Given the description of an element on the screen output the (x, y) to click on. 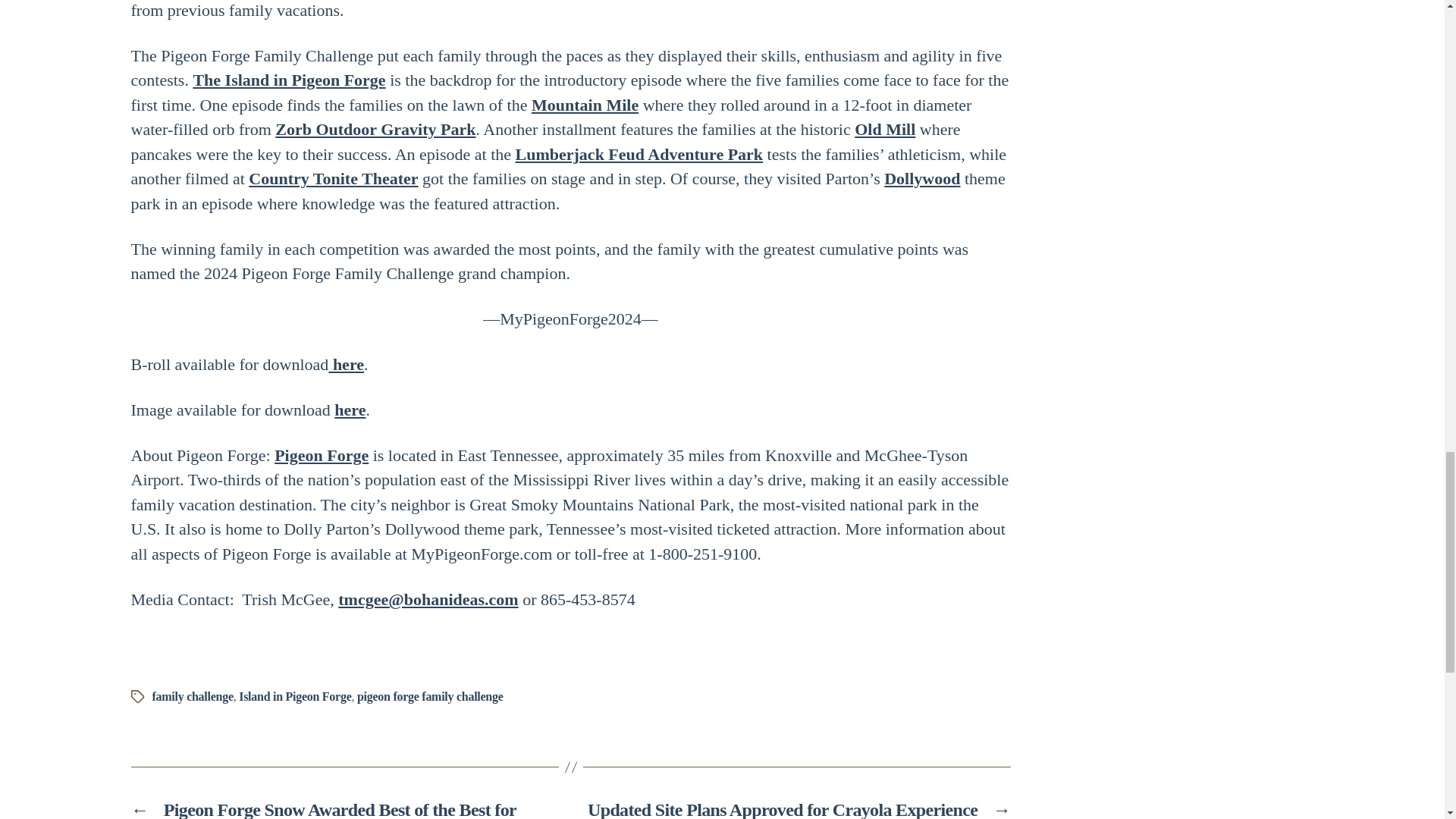
Lumberjack Feud Adventure Park (638, 153)
here (346, 363)
family challenge (191, 696)
Island in Pigeon Forge (294, 696)
Zorb Outdoor Gravity Park (375, 128)
The Island in Pigeon Forge (288, 79)
Old Mill (884, 128)
Country Tonite Theater (332, 178)
pigeon forge family challenge (429, 696)
Dollywood (921, 178)
